Given the description of an element on the screen output the (x, y) to click on. 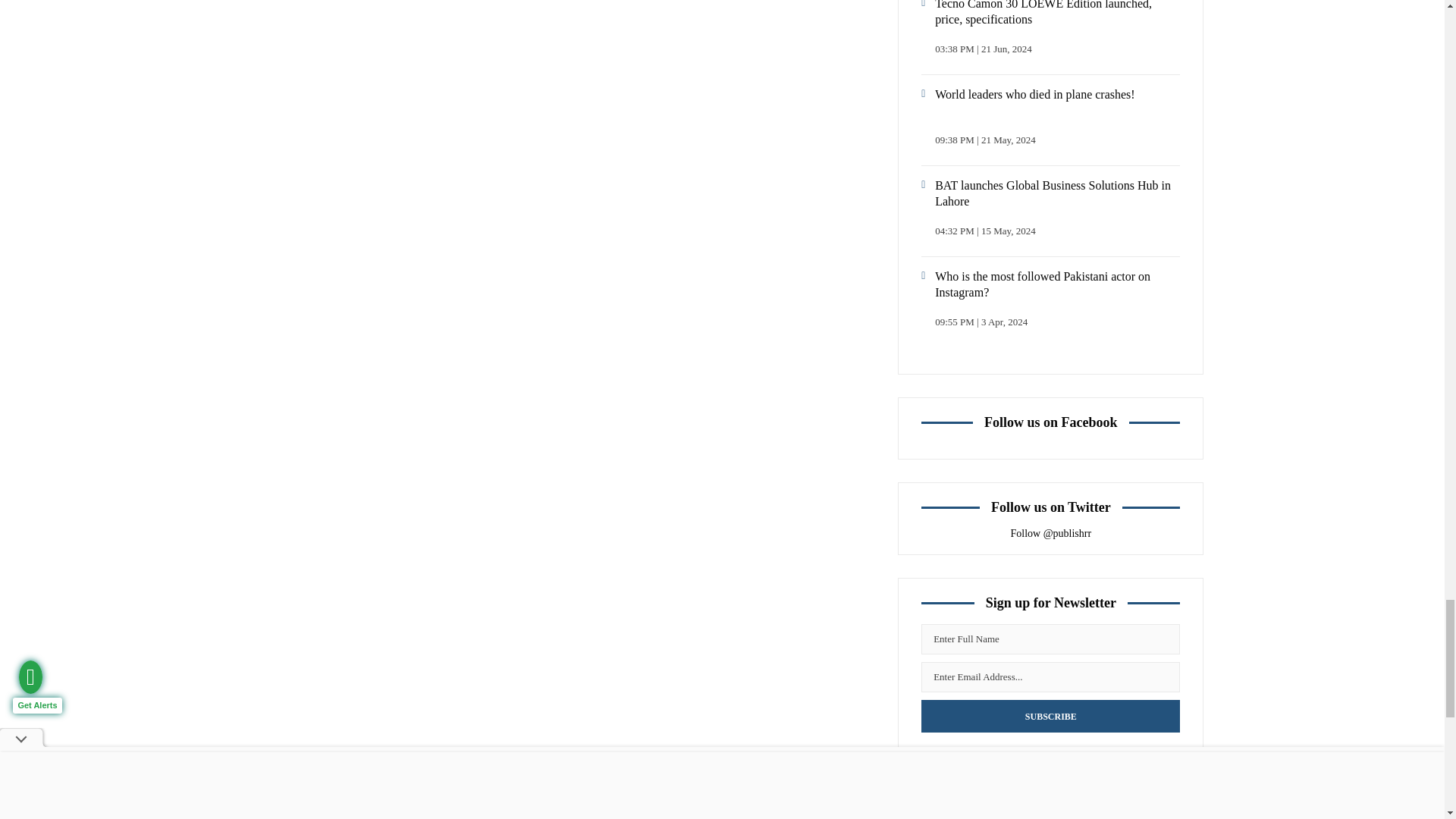
Subscribe (1050, 716)
